Given the description of an element on the screen output the (x, y) to click on. 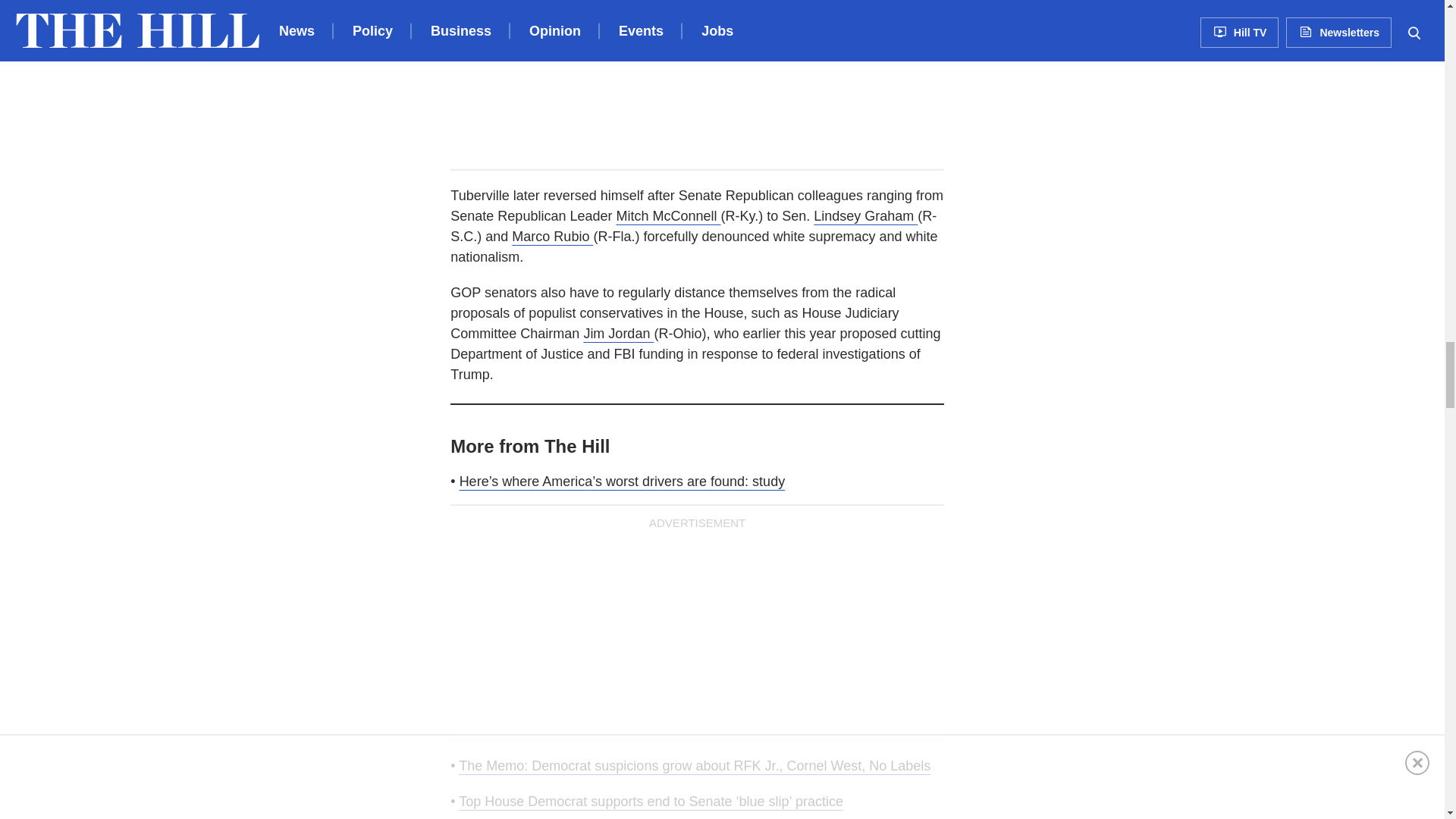
3rd party ad content (696, 630)
3rd party ad content (696, 77)
